Given the description of an element on the screen output the (x, y) to click on. 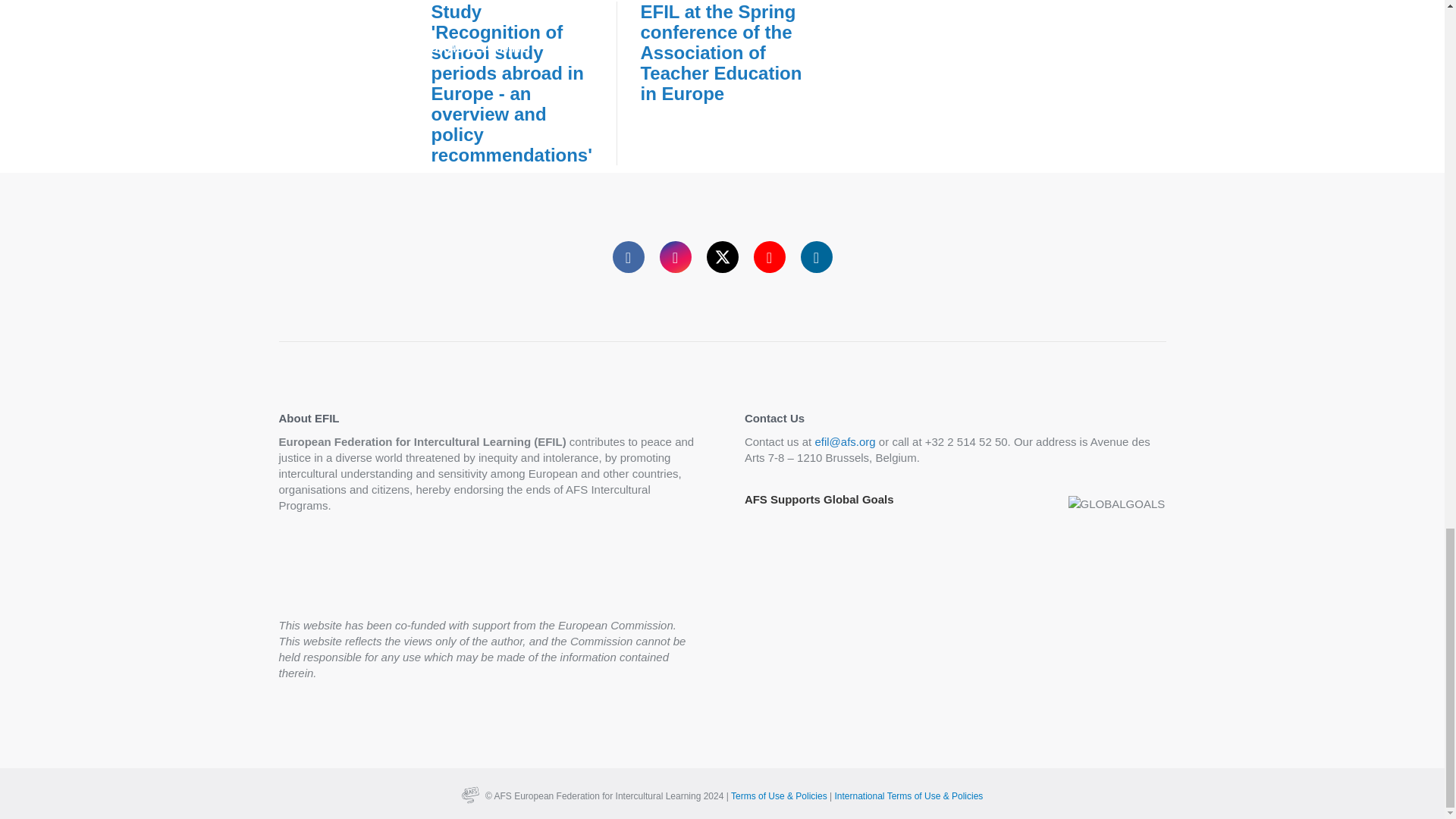
Facebook (628, 256)
Instagram (675, 256)
Twitter (722, 256)
YouTube (770, 256)
European Federation for Intercultural Learning (608, 796)
LinkedIn (816, 256)
